Given the description of an element on the screen output the (x, y) to click on. 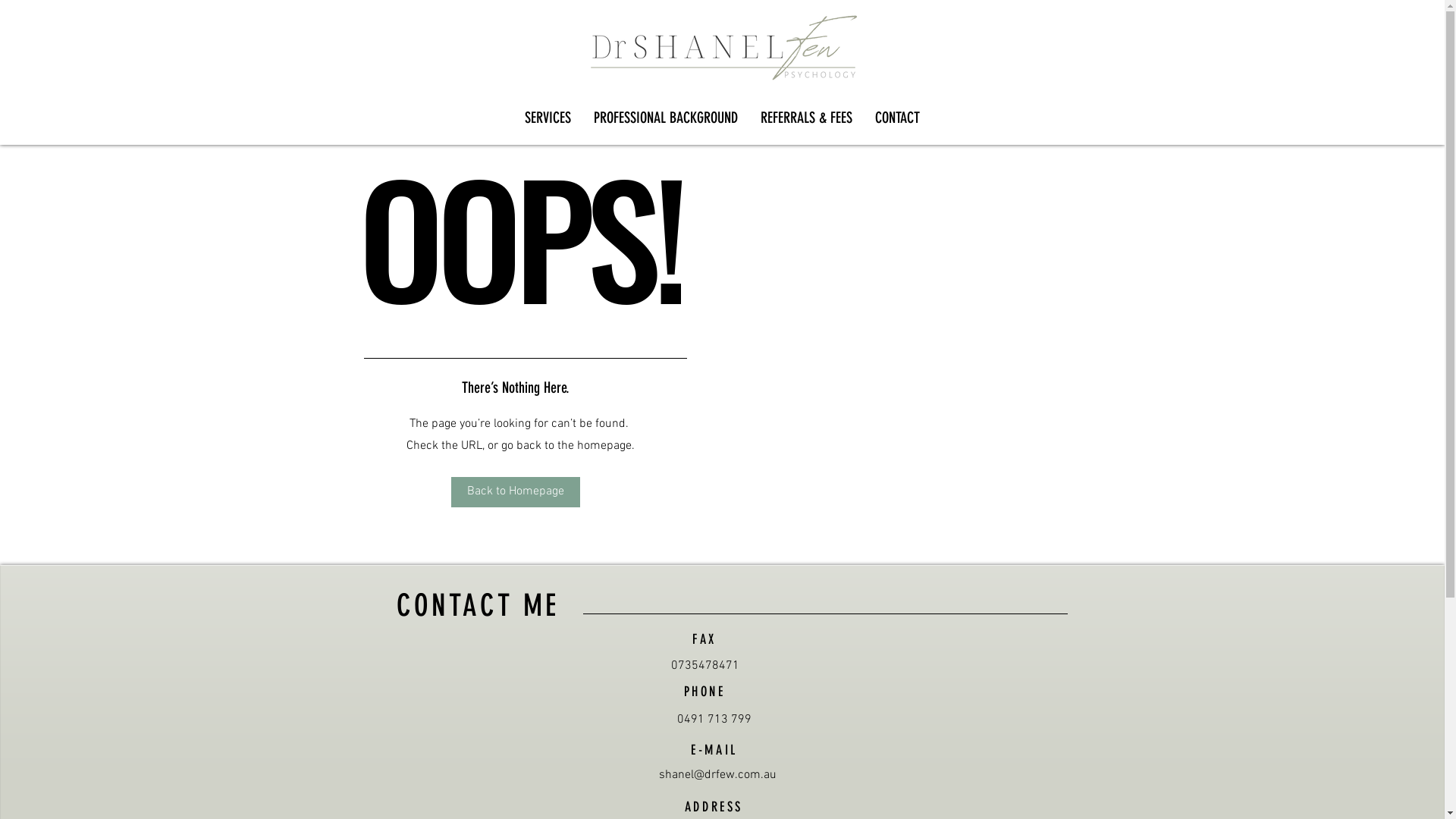
CONTACT Element type: text (897, 117)
REFERRALS & FEES Element type: text (806, 117)
Back to Homepage Element type: text (515, 491)
shanel@drfew.com.au Element type: text (717, 774)
PROFESSIONAL BACKGROUND Element type: text (665, 117)
SERVICES Element type: text (547, 117)
